Given the description of an element on the screen output the (x, y) to click on. 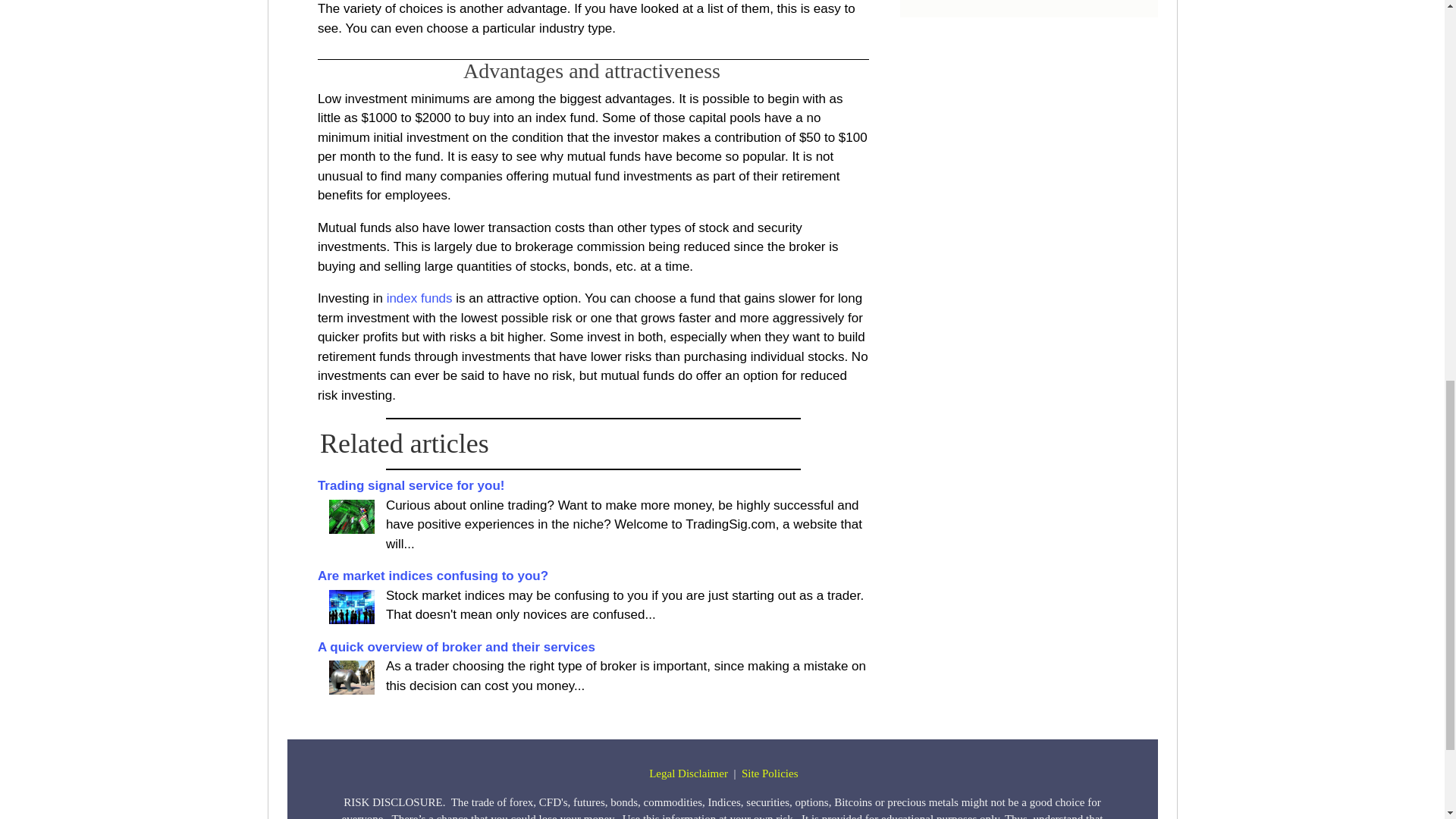
index funds (419, 298)
Trading (351, 516)
Broker (351, 677)
Indices (351, 606)
